Given the description of an element on the screen output the (x, y) to click on. 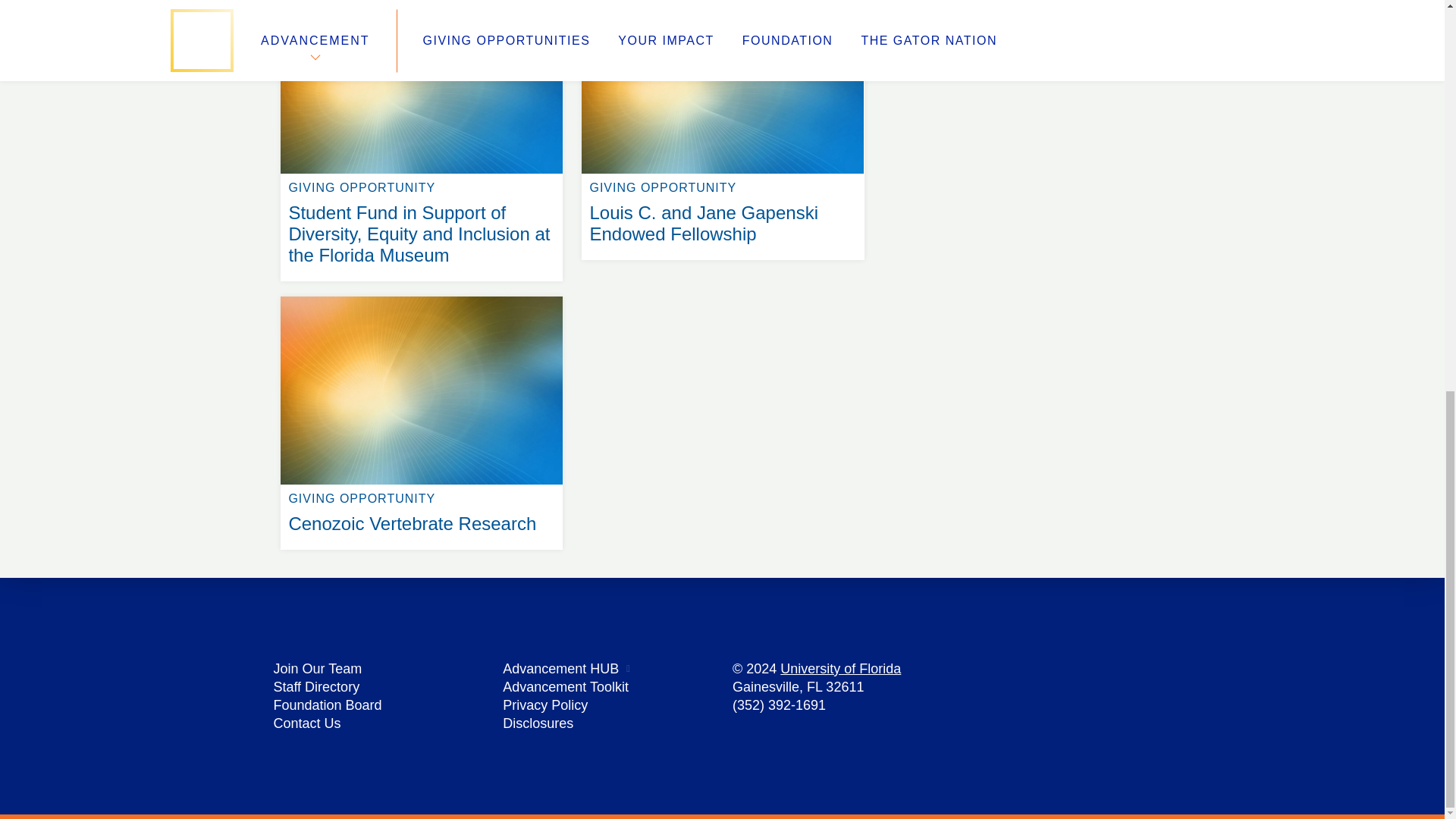
Foundation Board (421, 296)
Advancement HUB (327, 704)
Disclosures (560, 668)
Contact Us (537, 723)
Join Our Team (306, 723)
University of Florida (317, 668)
Privacy Policy (840, 668)
Advancement Toolkit (545, 704)
Staff Directory (565, 686)
